Given the description of an element on the screen output the (x, y) to click on. 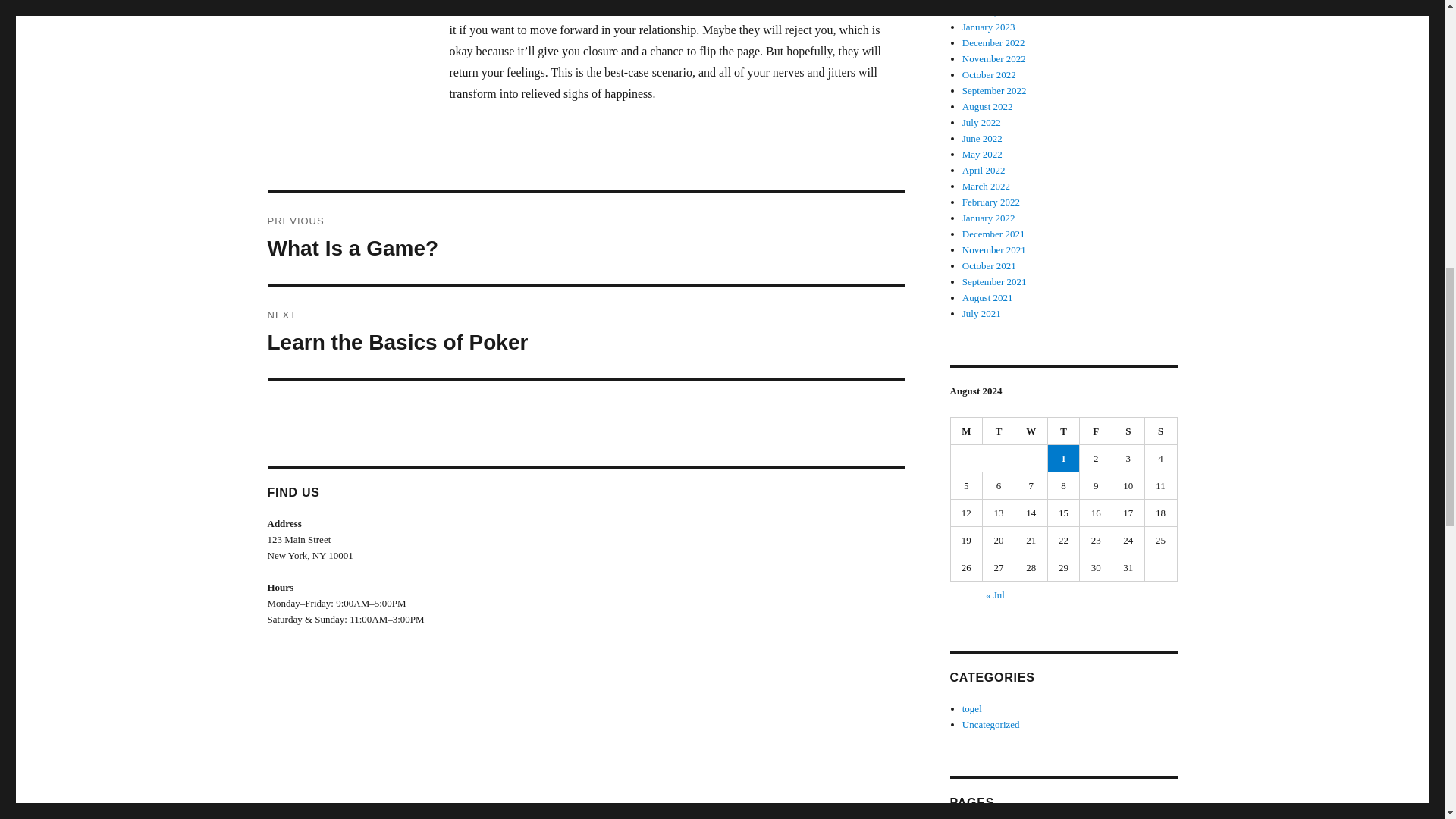
Monday (967, 431)
Friday (585, 331)
March 2023 (585, 237)
Wednesday (1096, 431)
Saturday (986, 0)
Thursday (1031, 431)
Sunday (1128, 431)
Tuesday (1064, 431)
